Given the description of an element on the screen output the (x, y) to click on. 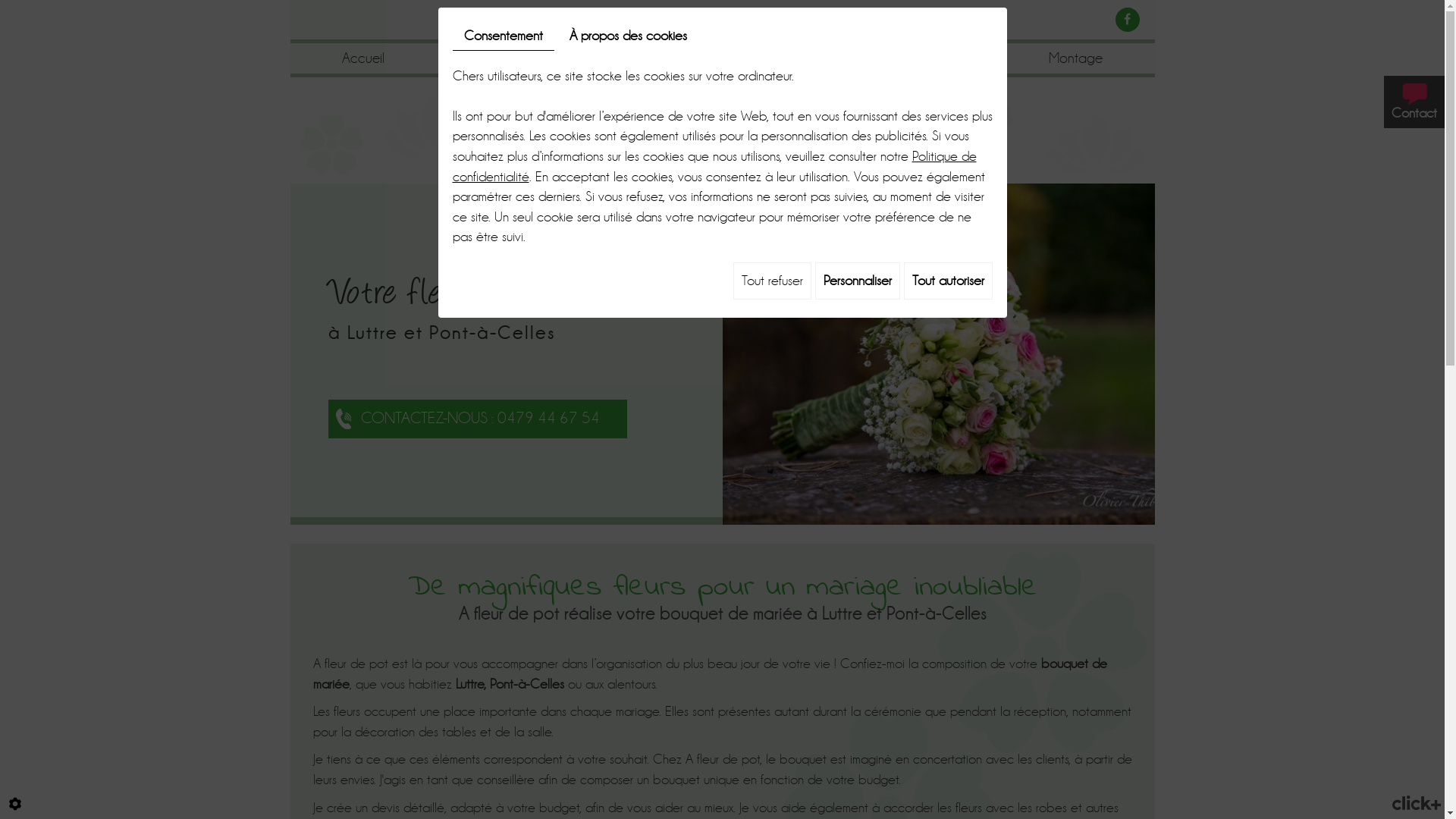
Montage Element type: text (1075, 59)
Accueil Element type: text (362, 59)
A Fleurs
de Pot Element type: text (722, 137)
Contact Element type: text (1413, 101)
Consentement Element type: text (502, 35)
Tout autoriser Element type: text (947, 280)
Personnaliser Element type: text (856, 280)
Fleurs Element type: text (502, 59)
Deuil Element type: text (931, 59)
Mariage Element type: text (788, 59)
Plantes Element type: text (641, 59)
Tout refuser Element type: text (771, 280)
